Given the description of an element on the screen output the (x, y) to click on. 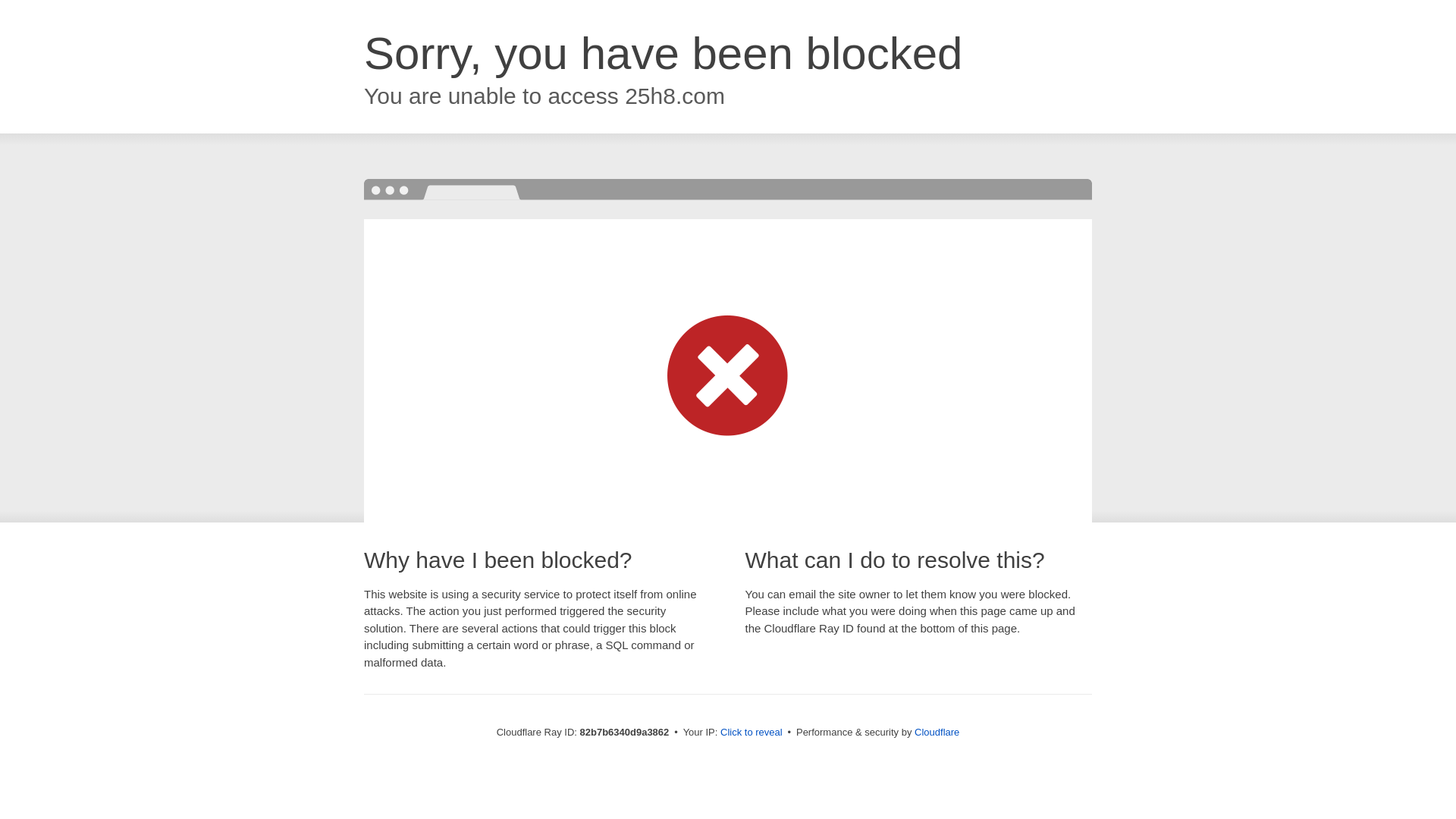
Click to reveal Element type: text (751, 732)
Cloudflare Element type: text (936, 731)
